Given the description of an element on the screen output the (x, y) to click on. 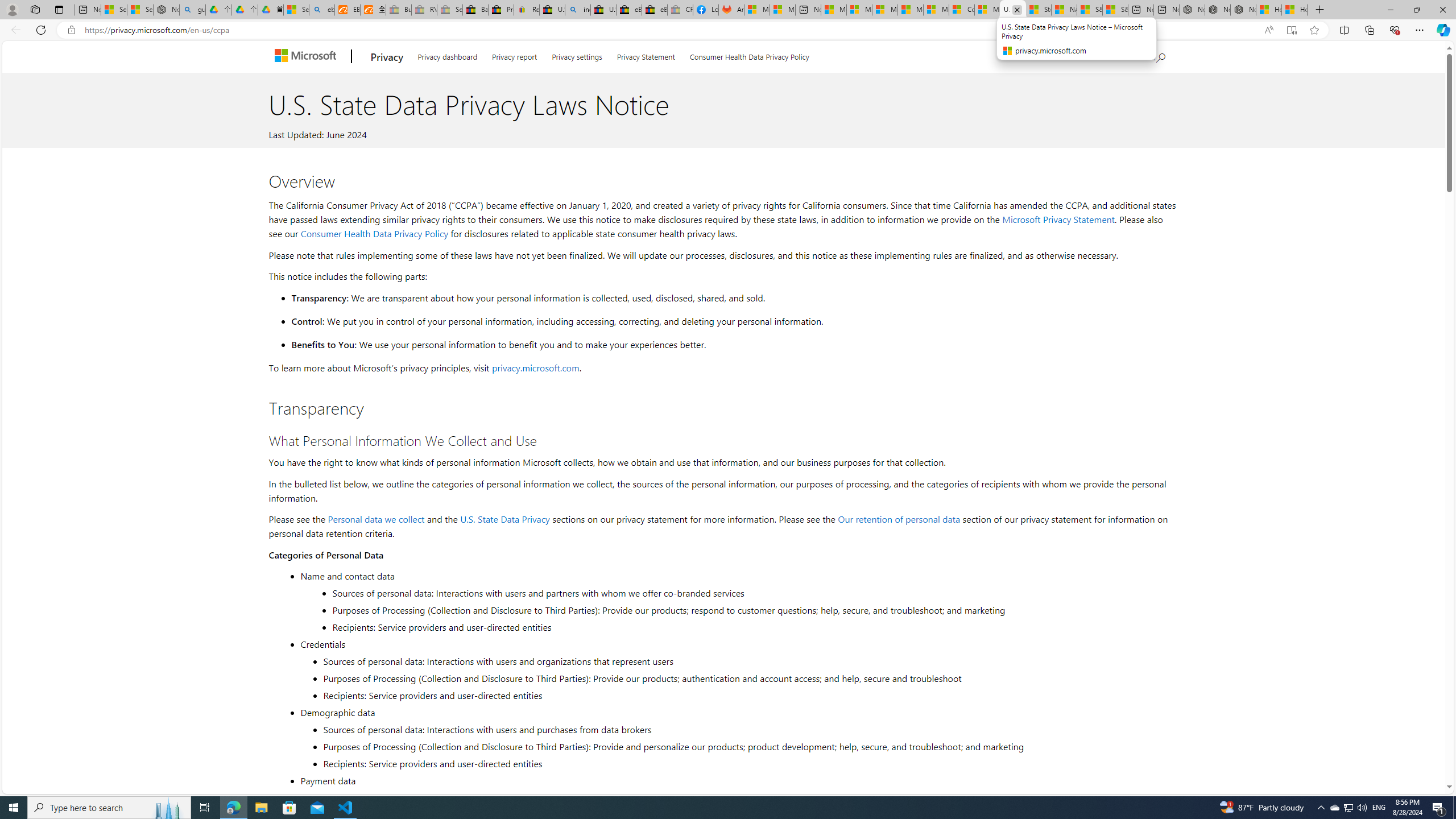
Demographic data (736, 712)
U.S. State Privacy Disclosures - eBay Inc. (603, 9)
Privacy settings (577, 54)
Privacy (386, 56)
Microsoft Privacy Statement (1058, 218)
Sell worldwide with eBay - Sleeping (449, 9)
